Given the description of an element on the screen output the (x, y) to click on. 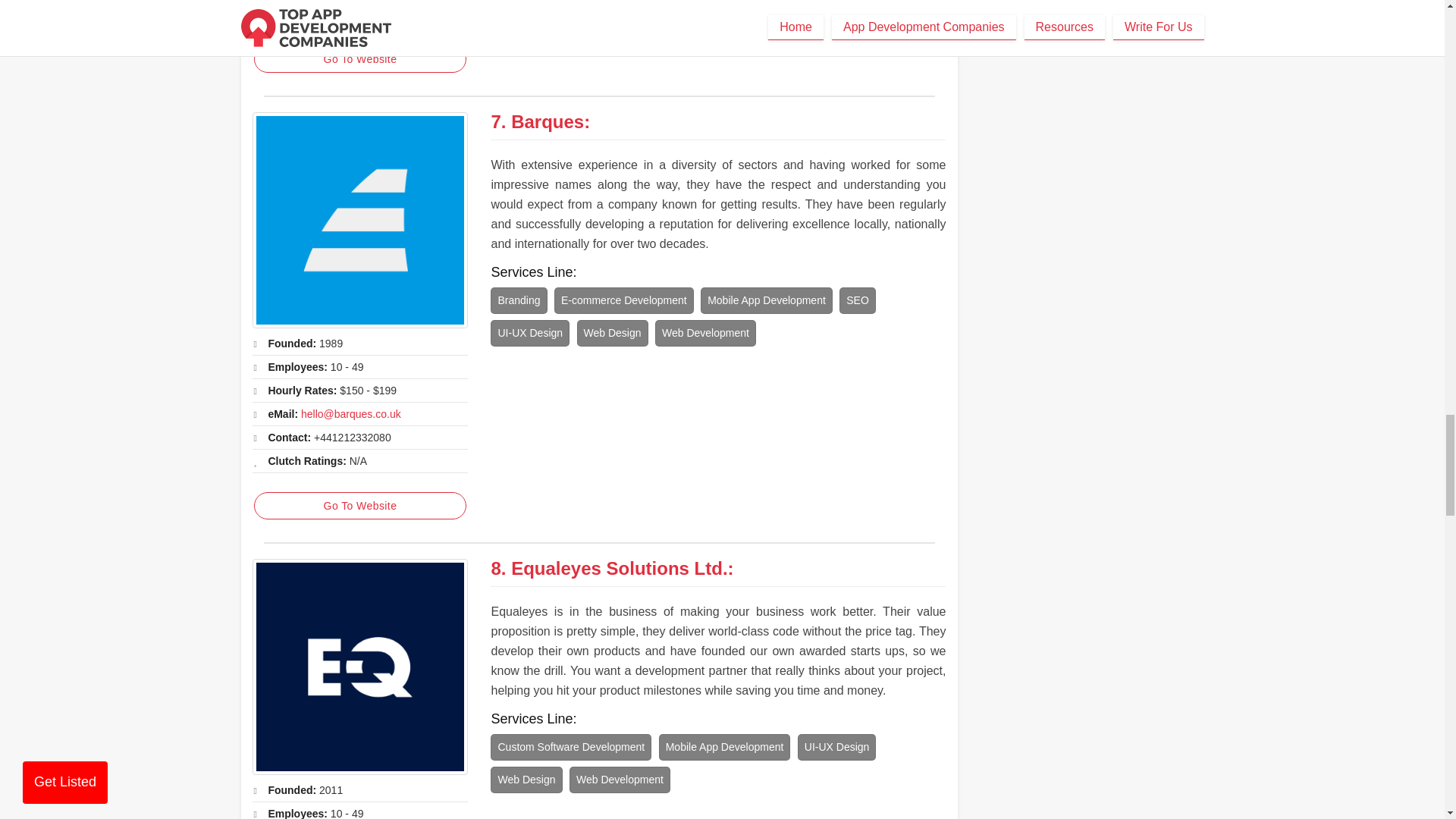
Barques (547, 121)
Go To Website (359, 58)
Go To Website (359, 505)
Barques (359, 220)
Equaleyes Solutions Ltd (359, 666)
